Given the description of an element on the screen output the (x, y) to click on. 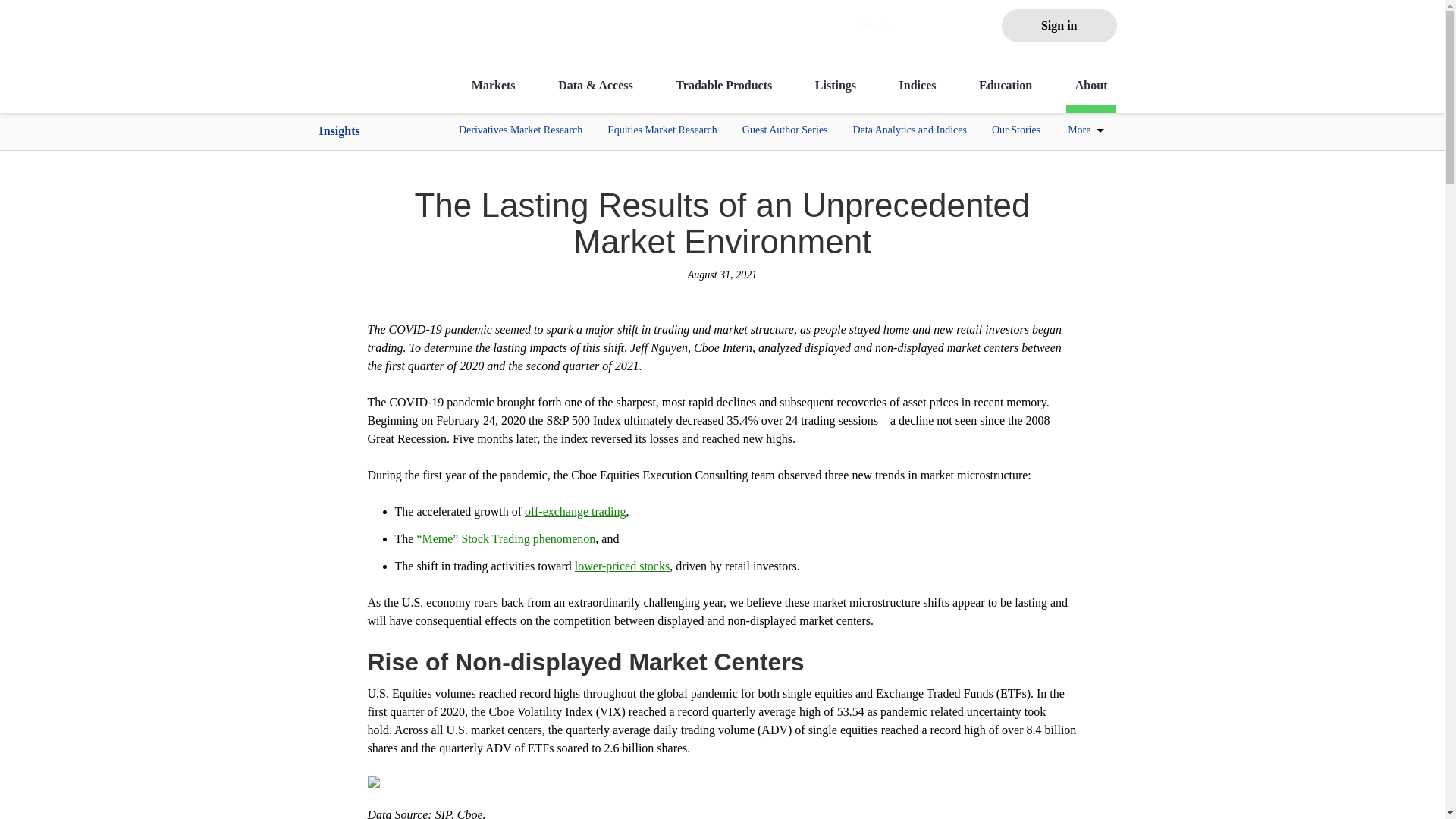
Sign in (1058, 25)
Search (907, 25)
Cboe Global Markets (359, 76)
Tradable Products (723, 94)
Search (911, 25)
Markets (493, 94)
Sign In (1058, 25)
